Given the description of an element on the screen output the (x, y) to click on. 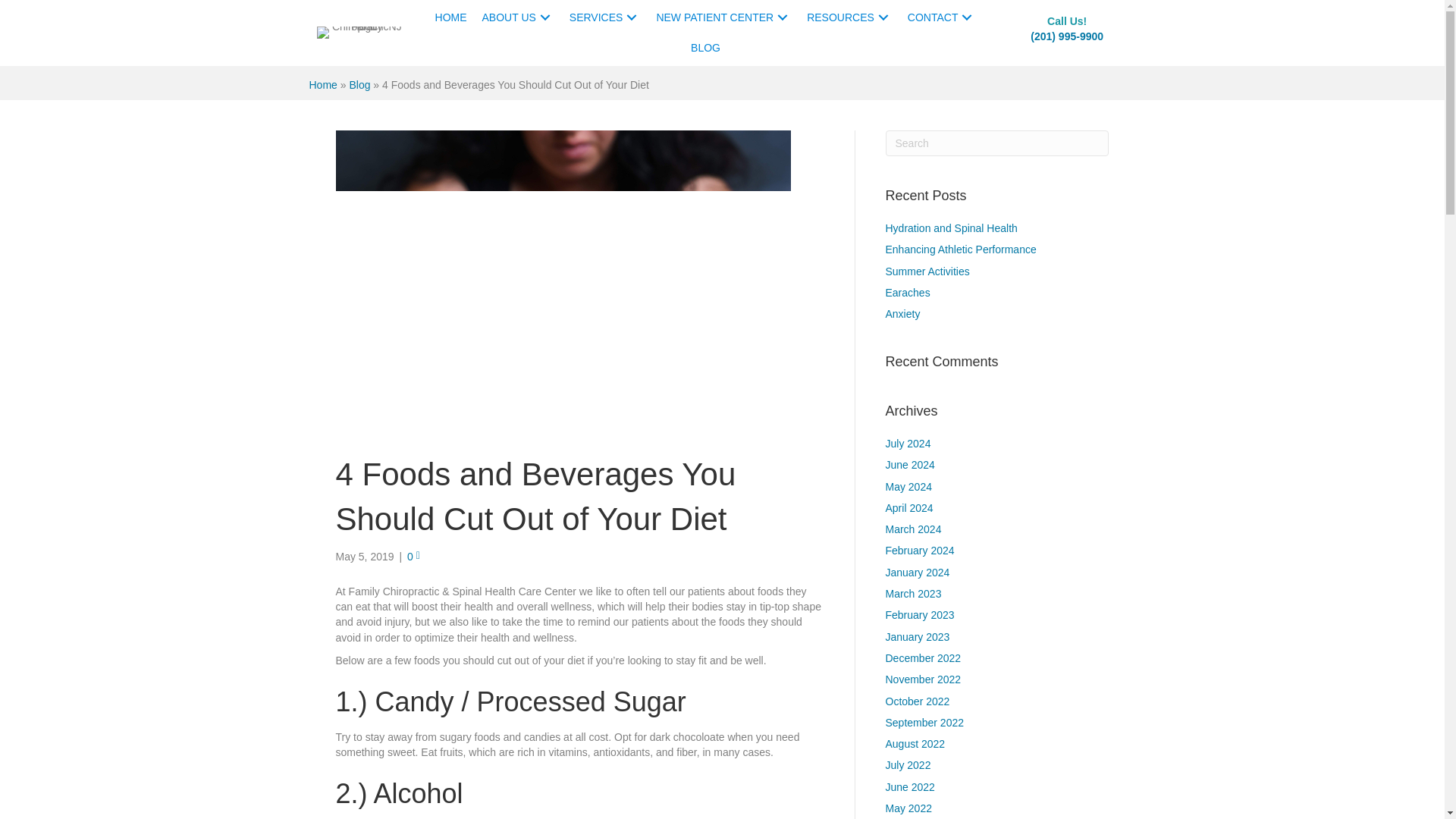
CONTACT (941, 17)
NEW PATIENT CENTER (723, 17)
ABOUT US (518, 17)
Blog (359, 84)
HOME (451, 17)
BLOG (705, 47)
Family ChiropracticNJ logo (361, 32)
0 (413, 556)
Home (322, 84)
SERVICES (605, 17)
Type and press Enter to search. (997, 143)
Hydration and Spinal Health (951, 227)
RESOURCES (849, 17)
